Given the description of an element on the screen output the (x, y) to click on. 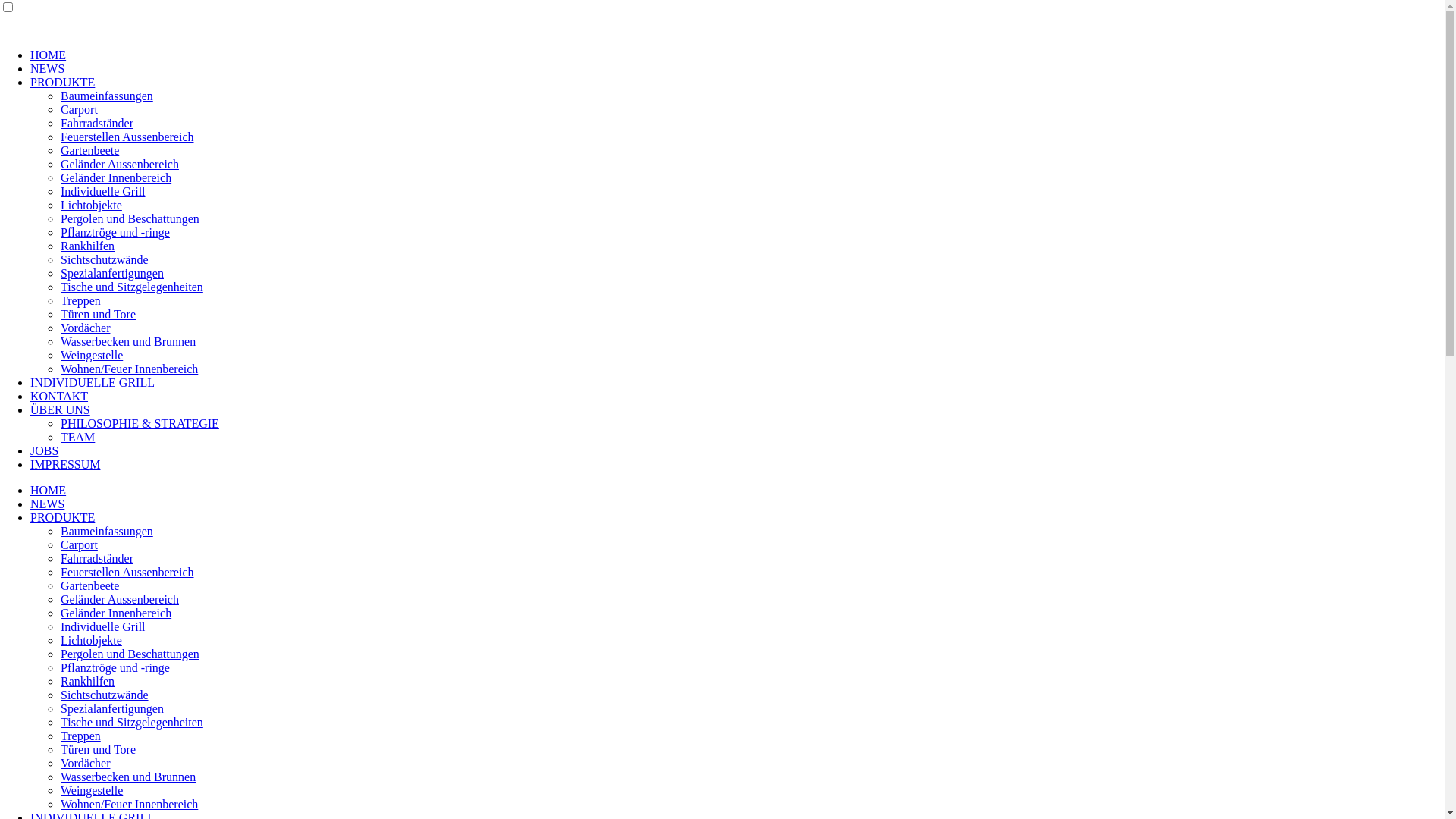
Individuelle Grill Element type: text (102, 626)
Feuerstellen Aussenbereich Element type: text (127, 571)
Treppen Element type: text (80, 735)
Treppen Element type: text (80, 300)
HOME Element type: text (47, 54)
Tische und Sitzgelegenheiten Element type: text (131, 721)
INDIVIDUELLE GRILL Element type: text (92, 382)
Weingestelle Element type: text (91, 790)
IMPRESSUM Element type: text (65, 464)
Spezialanfertigungen Element type: text (111, 708)
Gartenbeete Element type: text (89, 585)
Pergolen und Beschattungen Element type: text (129, 218)
HOME Element type: text (47, 489)
Weingestelle Element type: text (91, 354)
PHILOSOPHIE & STRATEGIE Element type: text (139, 423)
Rankhilfen Element type: text (87, 680)
NEWS Element type: text (47, 68)
Feuerstellen Aussenbereich Element type: text (127, 136)
Wohnen/Feuer Innenbereich Element type: text (128, 368)
Gartenbeete Element type: text (89, 150)
PRODUKTE Element type: text (62, 81)
Baumeinfassungen Element type: text (106, 95)
NEWS Element type: text (47, 503)
Baumeinfassungen Element type: text (106, 530)
Wohnen/Feuer Innenbereich Element type: text (128, 803)
Lichtobjekte Element type: text (91, 204)
Tische und Sitzgelegenheiten Element type: text (131, 286)
JOBS Element type: text (44, 450)
Wasserbecken und Brunnen Element type: text (127, 776)
TEAM Element type: text (77, 436)
Spezialanfertigungen Element type: text (111, 272)
PRODUKTE Element type: text (62, 517)
Carport Element type: text (78, 544)
Wasserbecken und Brunnen Element type: text (127, 341)
Individuelle Grill Element type: text (102, 191)
Lichtobjekte Element type: text (91, 639)
Rankhilfen Element type: text (87, 245)
Carport Element type: text (78, 109)
KONTAKT Element type: text (58, 395)
Pergolen und Beschattungen Element type: text (129, 653)
